Given the description of an element on the screen output the (x, y) to click on. 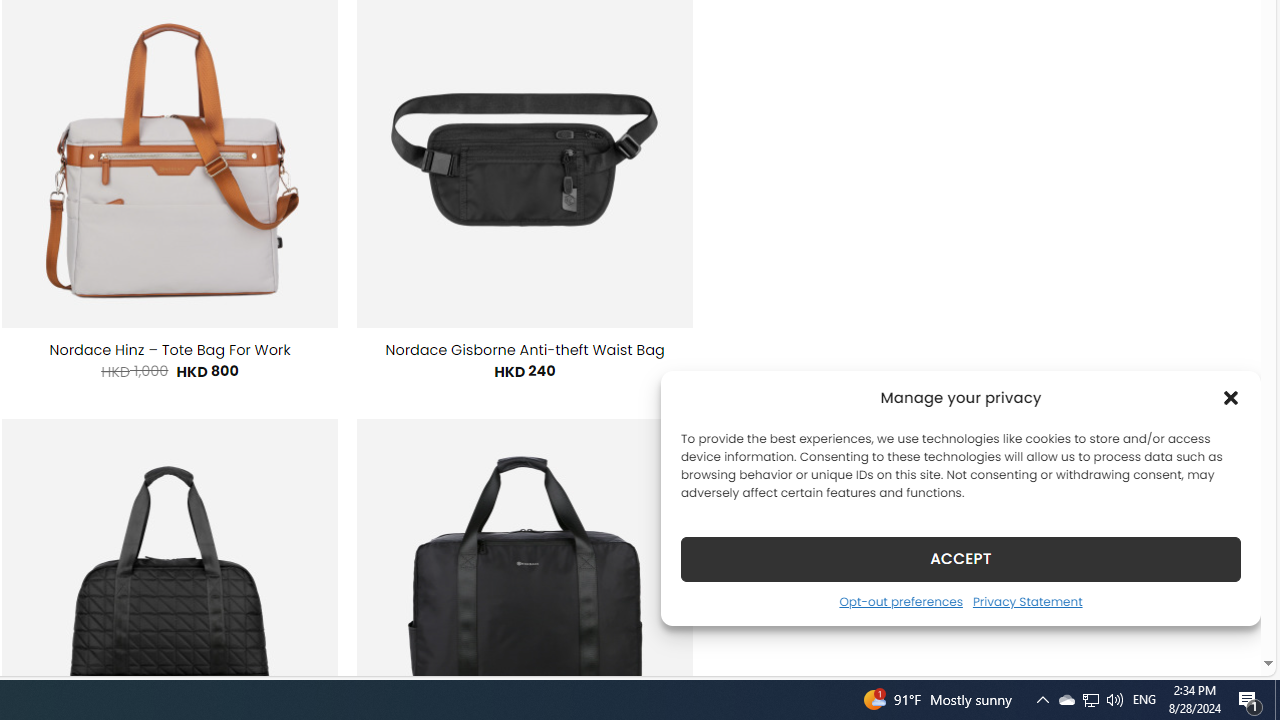
Class: cmplz-close (1231, 397)
ACCEPT (960, 558)
Nordace Gisborne Anti-theft Waist Bag (525, 350)
Opt-out preferences (900, 601)
Privacy Statement (1026, 601)
